Given the description of an element on the screen output the (x, y) to click on. 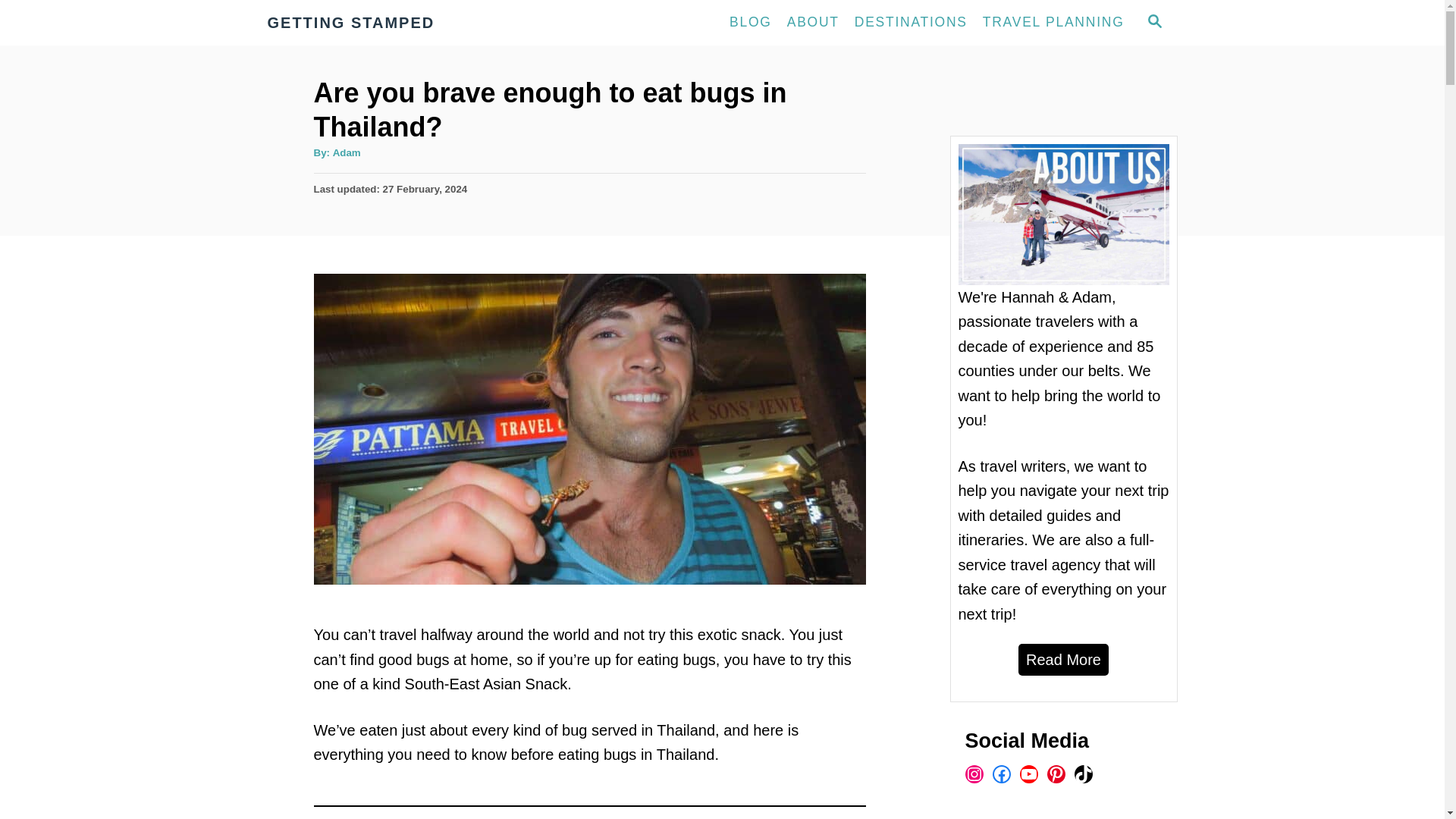
GETTING STAMPED (403, 23)
SEARCH (1153, 22)
GETTING STAMPED (403, 23)
ABOUT (812, 22)
BLOG (750, 22)
DESTINATIONS (911, 22)
